Given the description of an element on the screen output the (x, y) to click on. 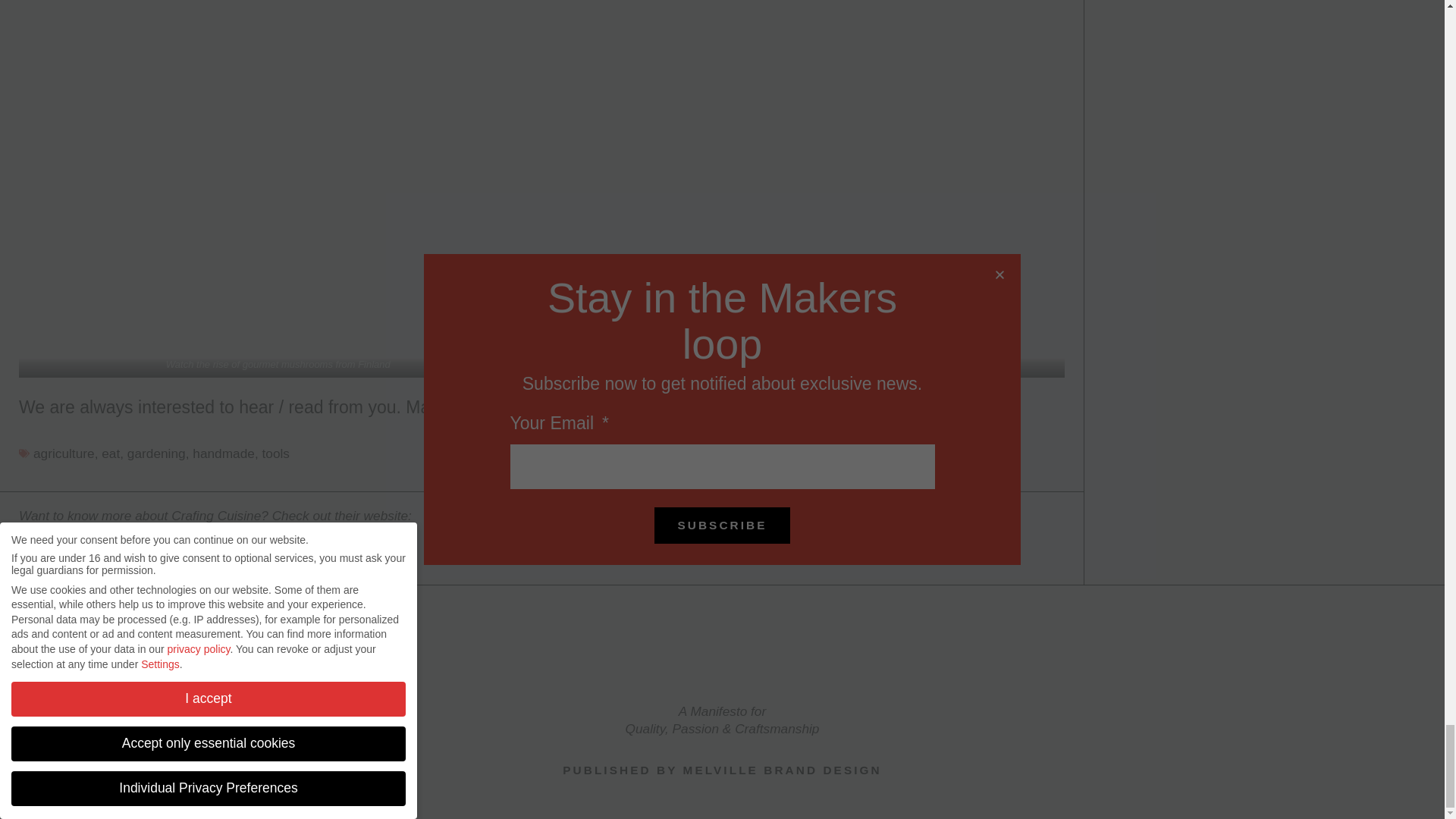
agriculture (63, 453)
eat (110, 453)
gourmet mushrooms from Finland (316, 364)
gardening (157, 453)
magic (745, 364)
